Given the description of an element on the screen output the (x, y) to click on. 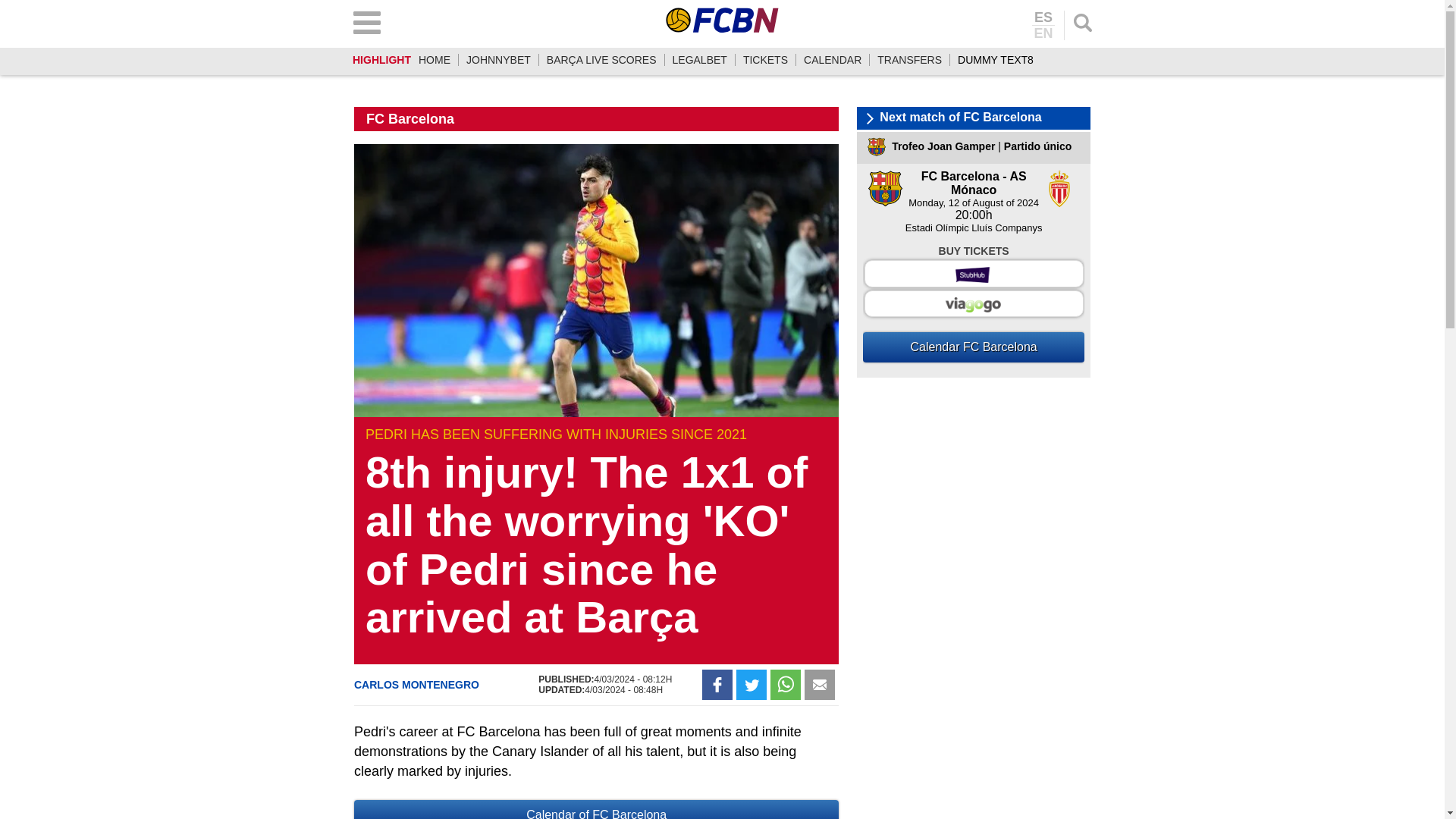
JOHNNYBET (498, 60)
Transfers (909, 60)
TICKETS (764, 60)
CALENDAR (832, 60)
FC Barcelona (410, 118)
FCBN (721, 19)
EN (1043, 32)
CALENDAR (832, 60)
CARLOS MONTENEGRO (416, 684)
TRANSFERS (909, 60)
